Given the description of an element on the screen output the (x, y) to click on. 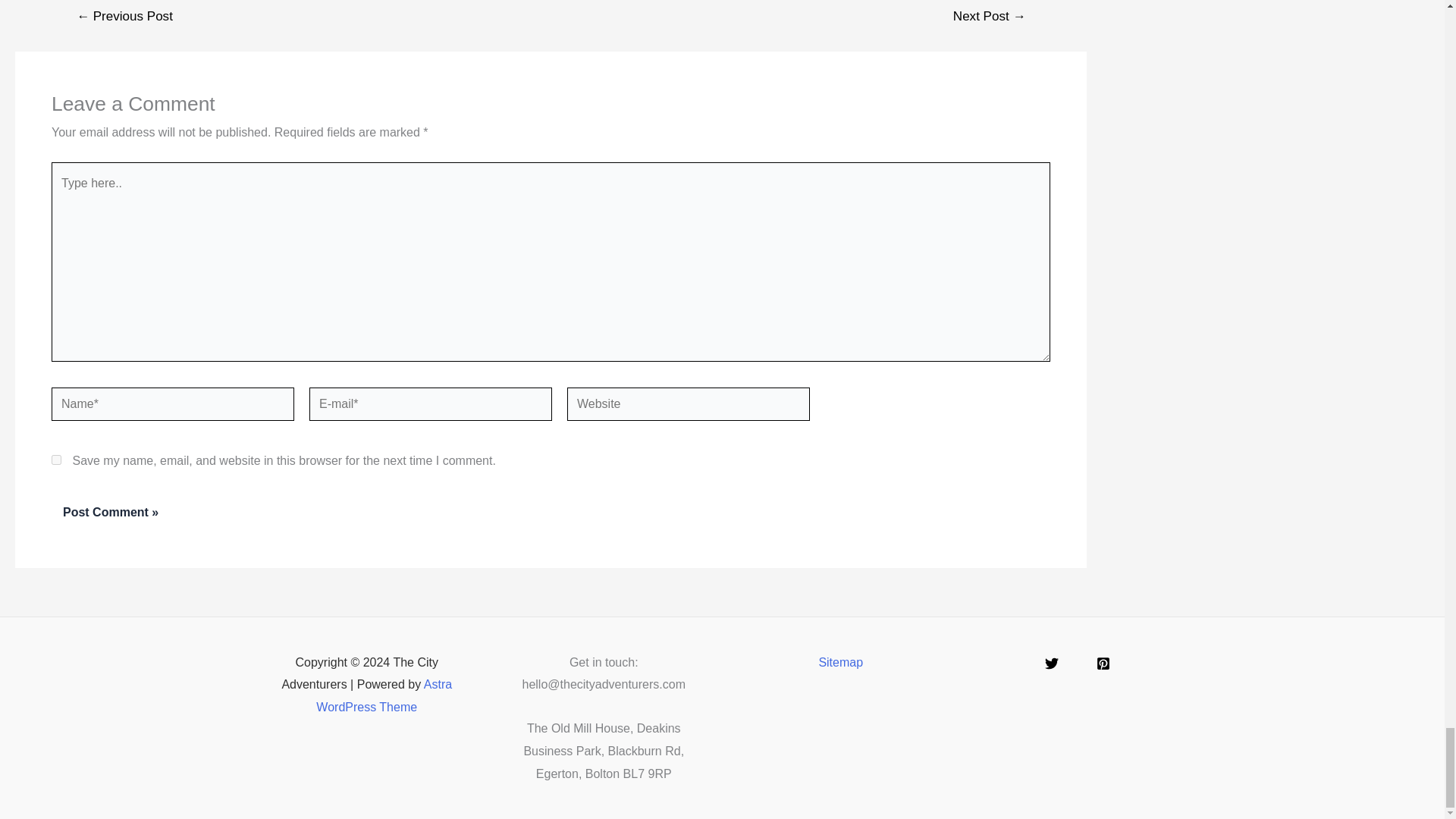
yes (55, 460)
